Given the description of an element on the screen output the (x, y) to click on. 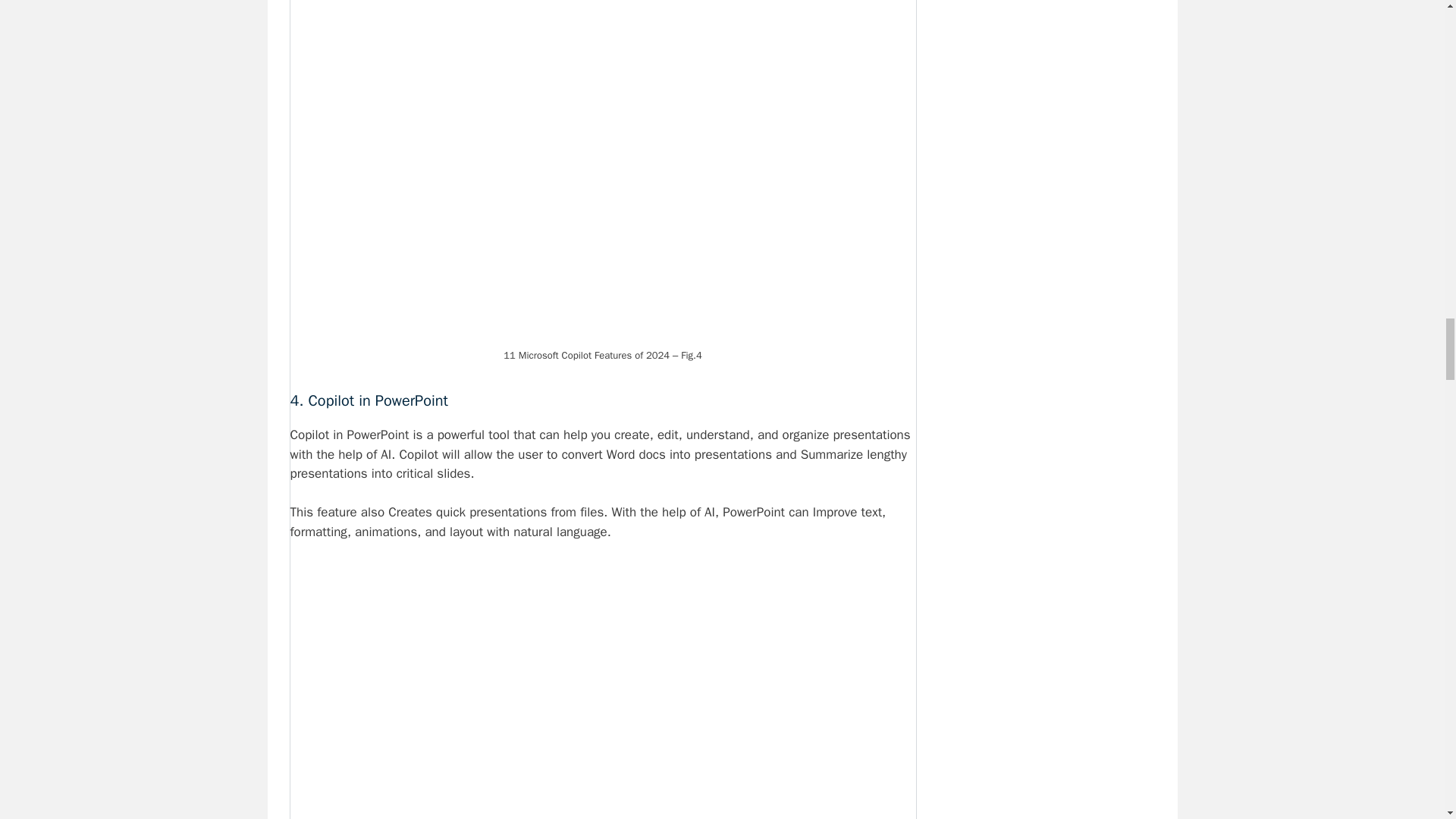
11 Microsoft Copilot Features of 2024 5 (602, 787)
